Given the description of an element on the screen output the (x, y) to click on. 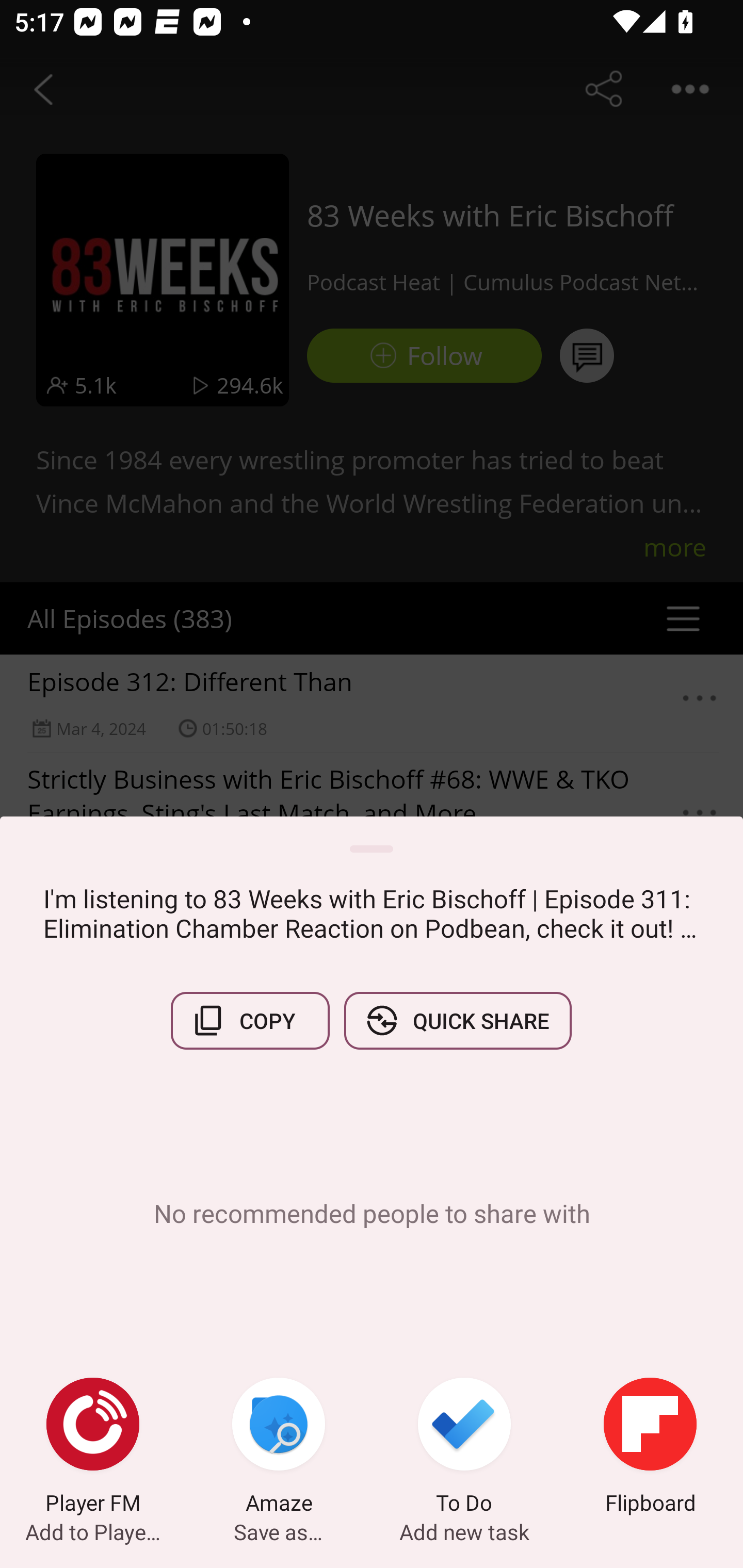
COPY (249, 1020)
QUICK SHARE (457, 1020)
Player FM Add to Player FM (92, 1448)
Amaze Save as… (278, 1448)
To Do Add new task (464, 1448)
Flipboard (650, 1448)
